Given the description of an element on the screen output the (x, y) to click on. 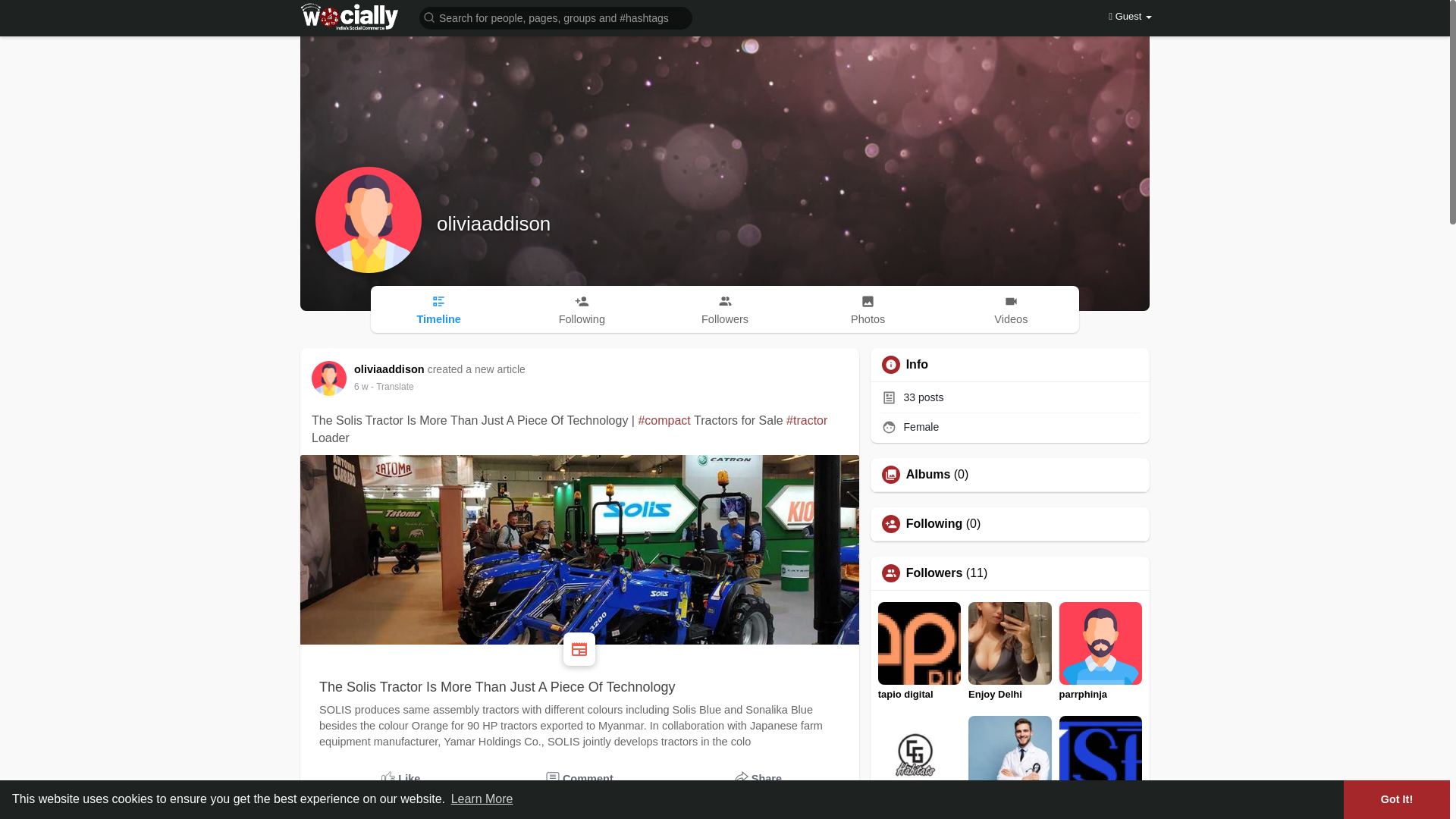
Photos (867, 308)
Share (757, 778)
Guest (1129, 17)
Videos (1010, 308)
oliviaaddison (391, 369)
oliviaaddison (493, 223)
6 w (360, 386)
Learn More (481, 798)
6 w (360, 386)
Timeline (438, 308)
Following (581, 308)
Translate (392, 386)
Followers (725, 308)
Comments (579, 778)
